Given the description of an element on the screen output the (x, y) to click on. 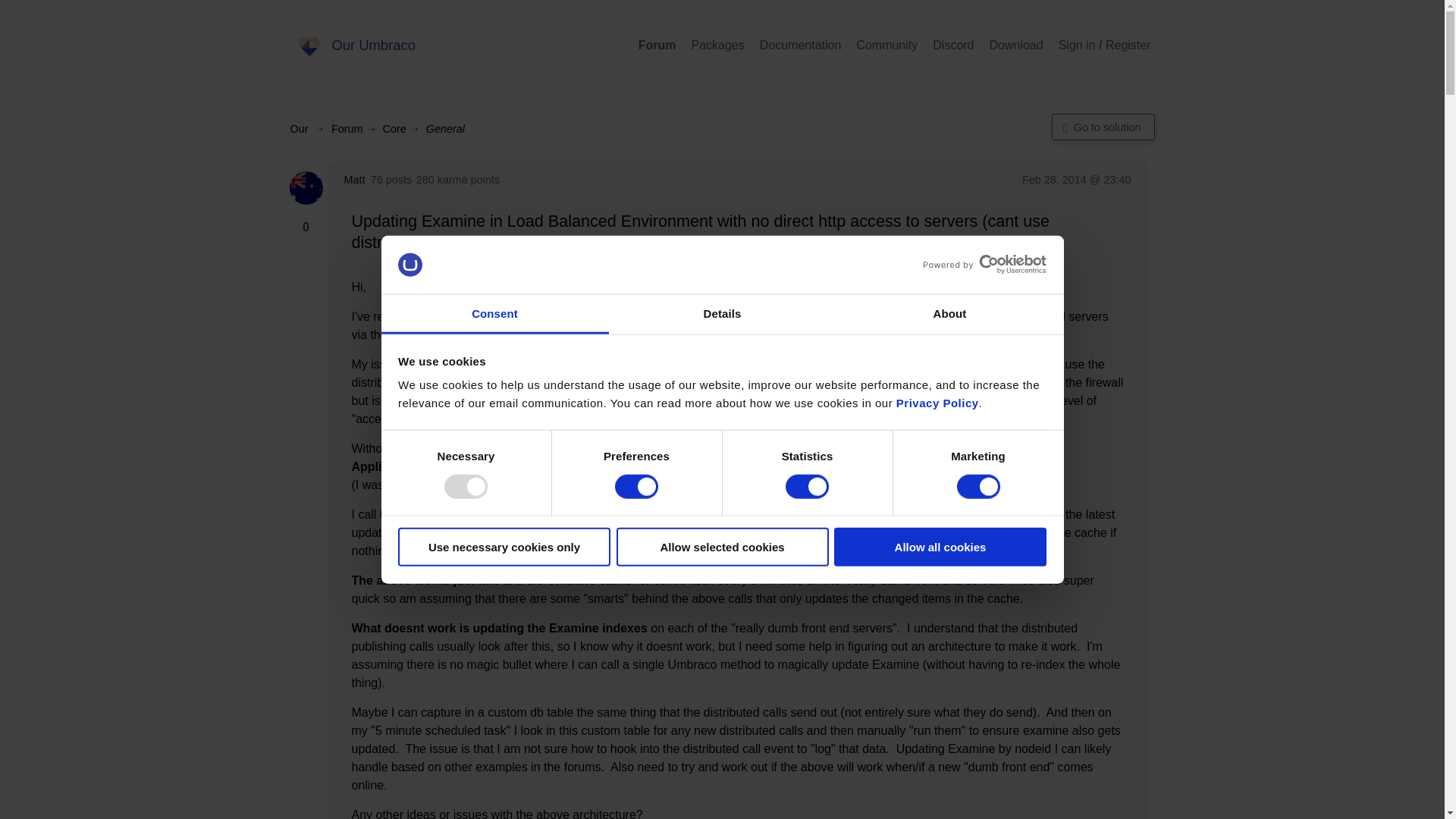
Use necessary cookies only (503, 546)
About (948, 314)
Consent (494, 314)
Allow all cookies (940, 546)
Allow selected cookies (721, 546)
Privacy Policy (937, 402)
Details (721, 314)
